Given the description of an element on the screen output the (x, y) to click on. 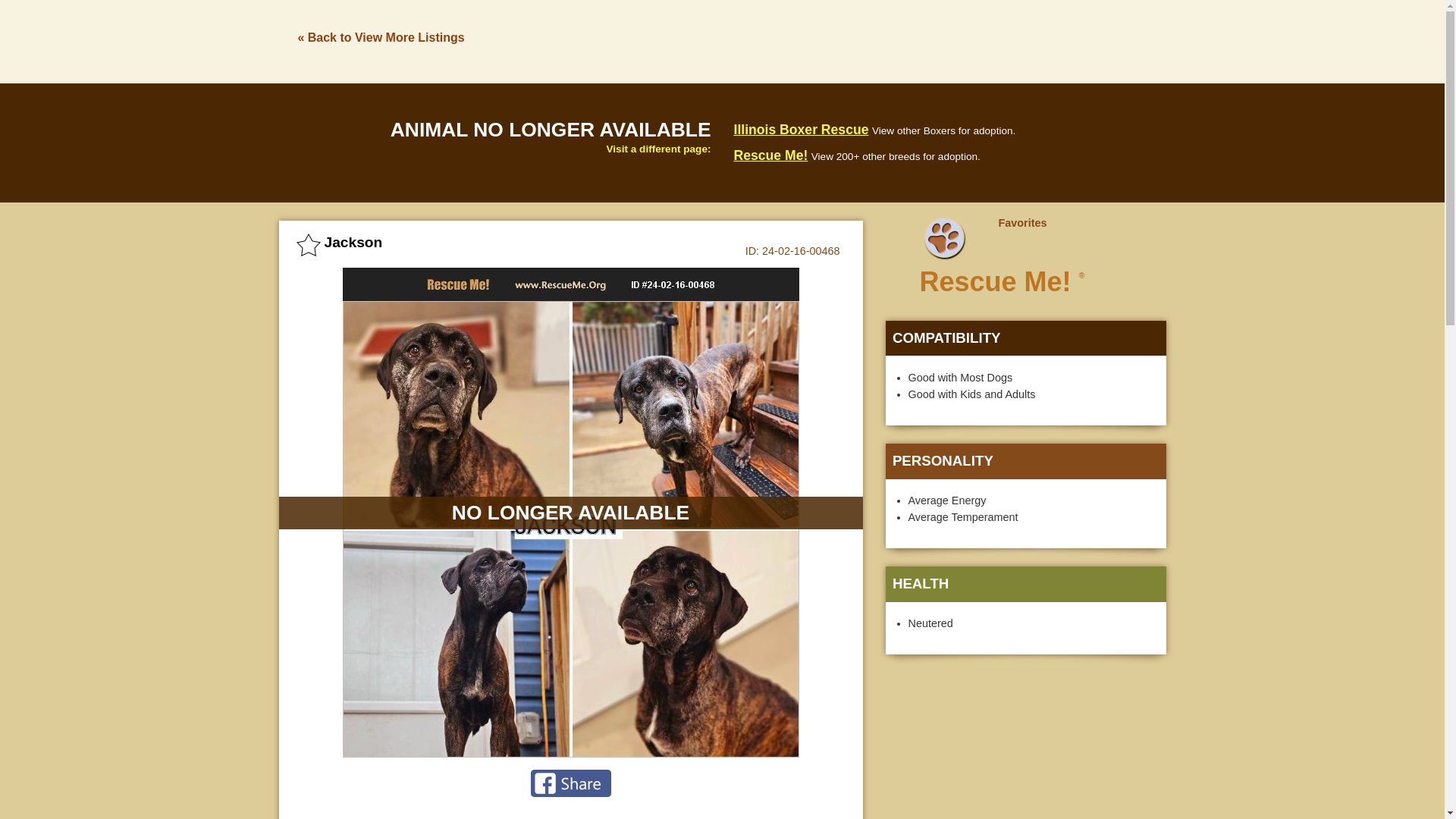
Illinois Boxer Rescue (801, 129)
Favorites (1011, 223)
Rescue Me! (770, 155)
